Given the description of an element on the screen output the (x, y) to click on. 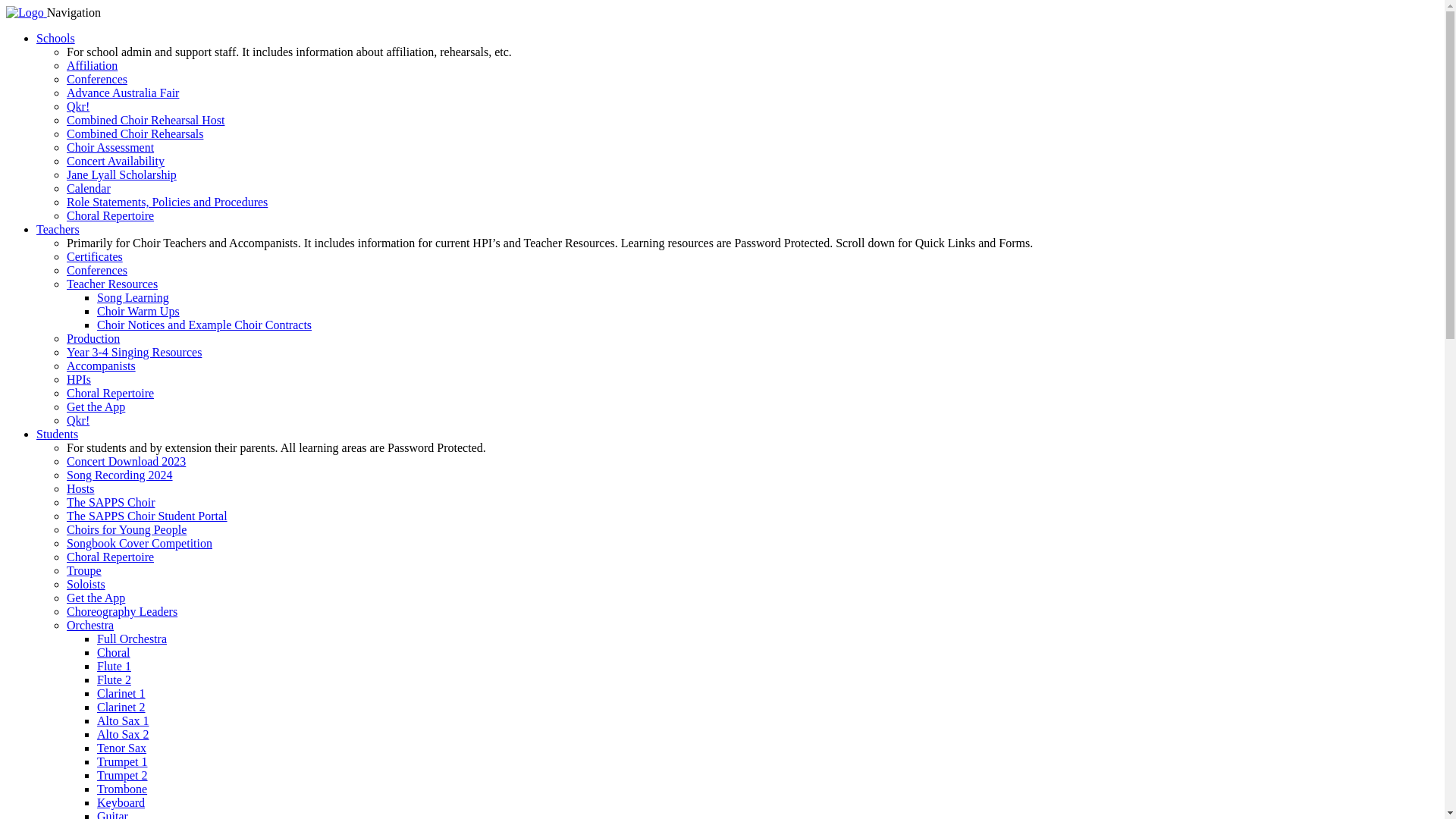
Troupe Element type: text (83, 570)
Qkr! Element type: text (77, 420)
Qkr! Element type: text (77, 106)
Clarinet 1 Element type: text (121, 693)
Calendar Element type: text (88, 188)
Year 3-4 Singing Resources Element type: text (133, 351)
Trumpet 1 Element type: text (122, 761)
Combined Choir Rehearsal Host Element type: text (145, 119)
Choir Assessment Element type: text (109, 147)
Teachers Element type: text (57, 228)
Tenor Sax Element type: text (121, 747)
Production Element type: text (92, 338)
Clarinet 2 Element type: text (121, 706)
Choral Repertoire Element type: text (109, 556)
Flute 1 Element type: text (114, 665)
Alto Sax 1 Element type: text (122, 720)
Students Element type: text (57, 433)
Concert Download 2023 Element type: text (125, 461)
Trombone Element type: text (122, 788)
Combined Choir Rehearsals Element type: text (134, 133)
Jane Lyall Scholarship Element type: text (121, 174)
Concert Availability Element type: text (115, 160)
Schools Element type: text (55, 37)
Songbook Cover Competition Element type: text (139, 542)
HPIs Element type: text (78, 379)
Choir Notices and Example Choir Contracts Element type: text (204, 324)
Role Statements, Policies and Procedures Element type: text (166, 201)
Song Recording 2024 Element type: text (119, 474)
Orchestra Element type: text (89, 624)
Keyboard Element type: text (120, 802)
Certificates Element type: text (94, 256)
Choral Element type: text (113, 652)
Alto Sax 2 Element type: text (122, 734)
Soloists Element type: text (85, 583)
Get the App Element type: text (95, 406)
Choral Repertoire Element type: text (109, 215)
Choral Repertoire Element type: text (109, 392)
Get the App Element type: text (95, 597)
Conferences Element type: text (96, 269)
Choirs for Young People Element type: text (126, 529)
Teacher Resources Element type: text (111, 283)
Advance Australia Fair Element type: text (122, 92)
Affiliation Element type: text (91, 65)
Accompanists Element type: text (100, 365)
Flute 2 Element type: text (114, 679)
Song Learning Element type: text (133, 297)
Conferences Element type: text (96, 78)
Choir Warm Ups Element type: text (138, 310)
Trumpet 2 Element type: text (122, 774)
Choreography Leaders Element type: text (121, 611)
Hosts Element type: text (80, 488)
The SAPPS Choir Student Portal Element type: text (146, 515)
Full Orchestra Element type: text (131, 638)
The SAPPS Choir Element type: text (110, 501)
